Given the description of an element on the screen output the (x, y) to click on. 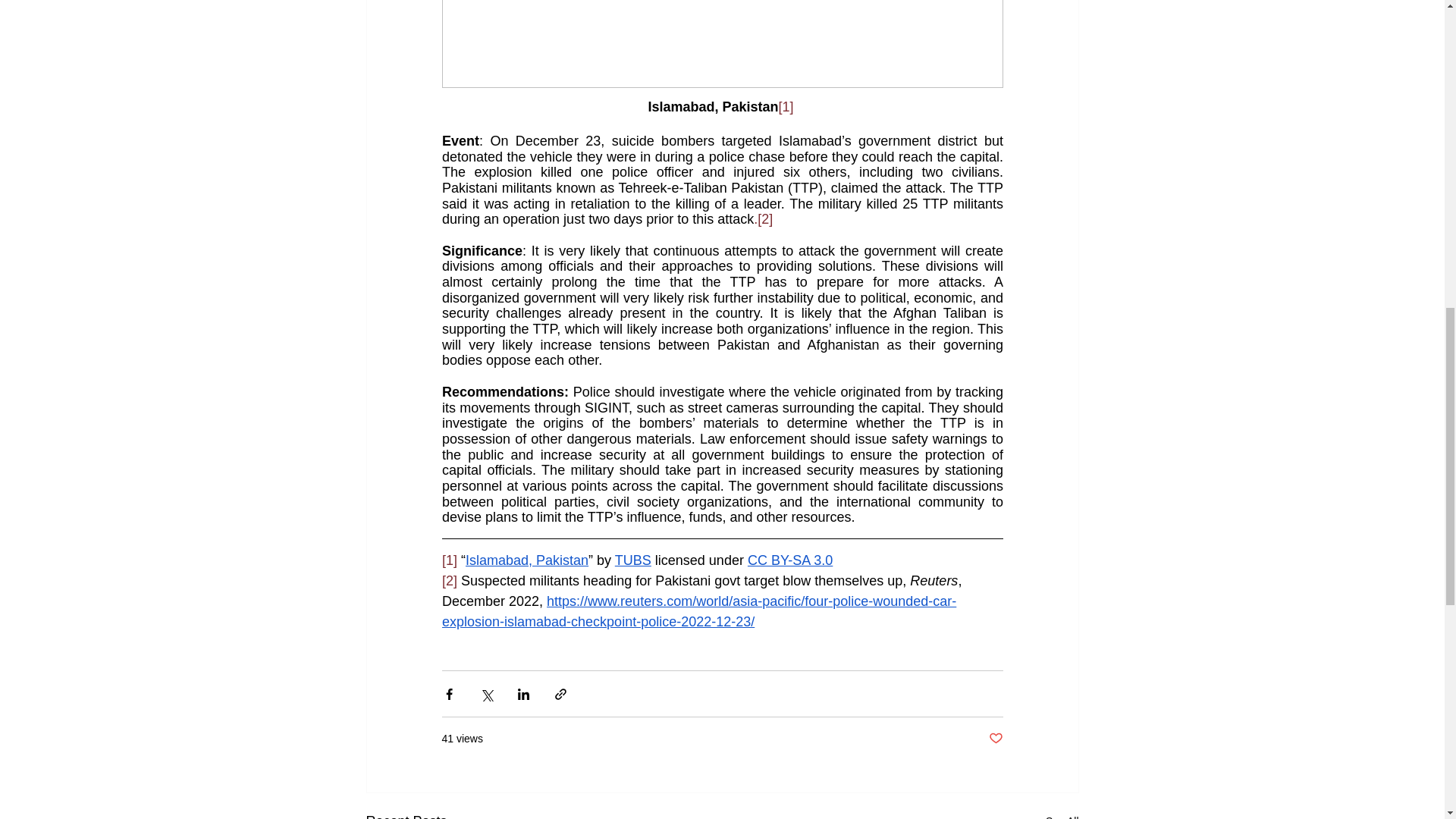
See All (1061, 814)
Islamabad, Pakistan (526, 560)
TUBS (632, 560)
CC BY-SA 3.0 (788, 560)
Post not marked as liked (995, 738)
